Given the description of an element on the screen output the (x, y) to click on. 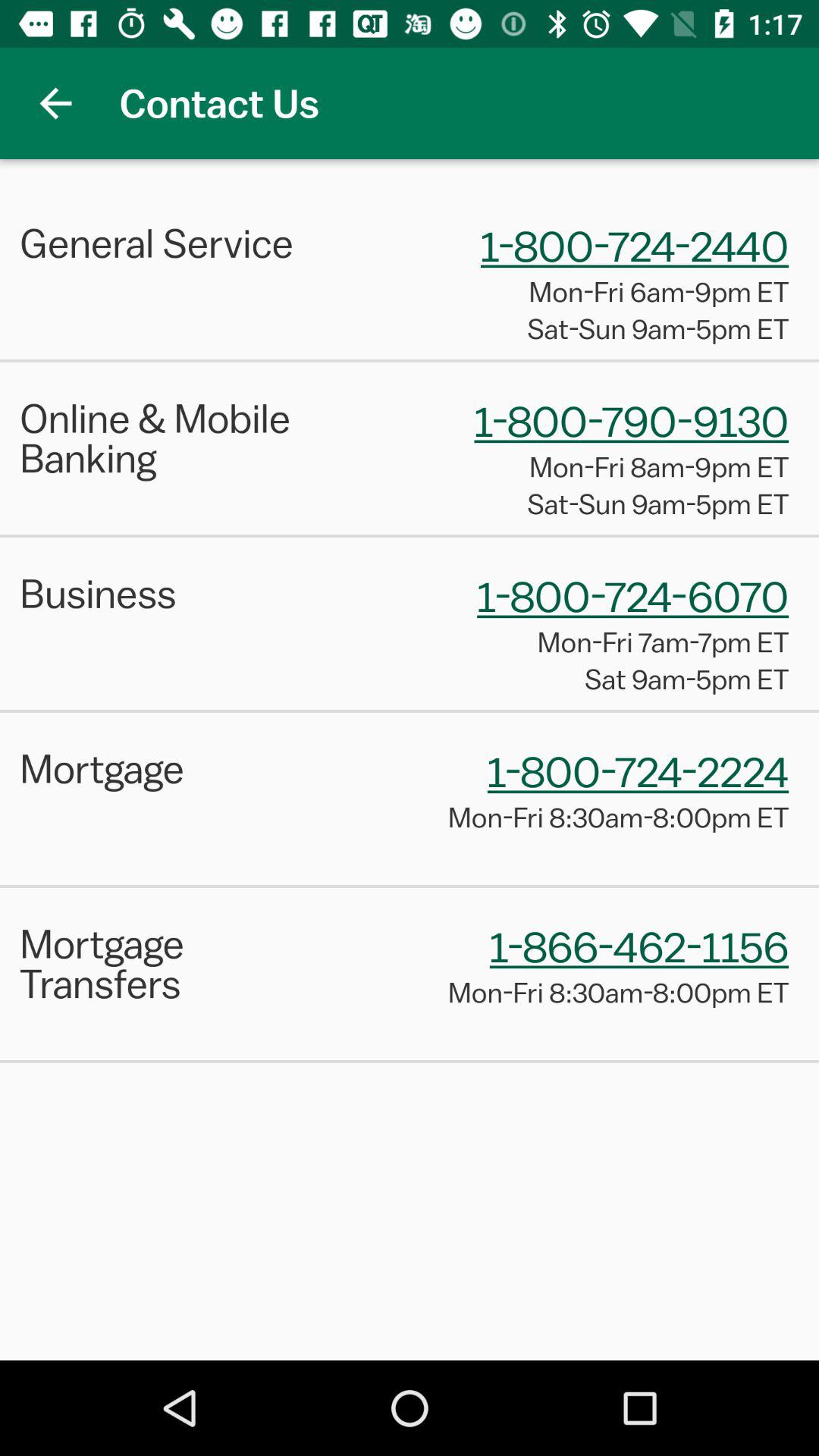
tap app to the left of the contact us app (55, 103)
